Given the description of an element on the screen output the (x, y) to click on. 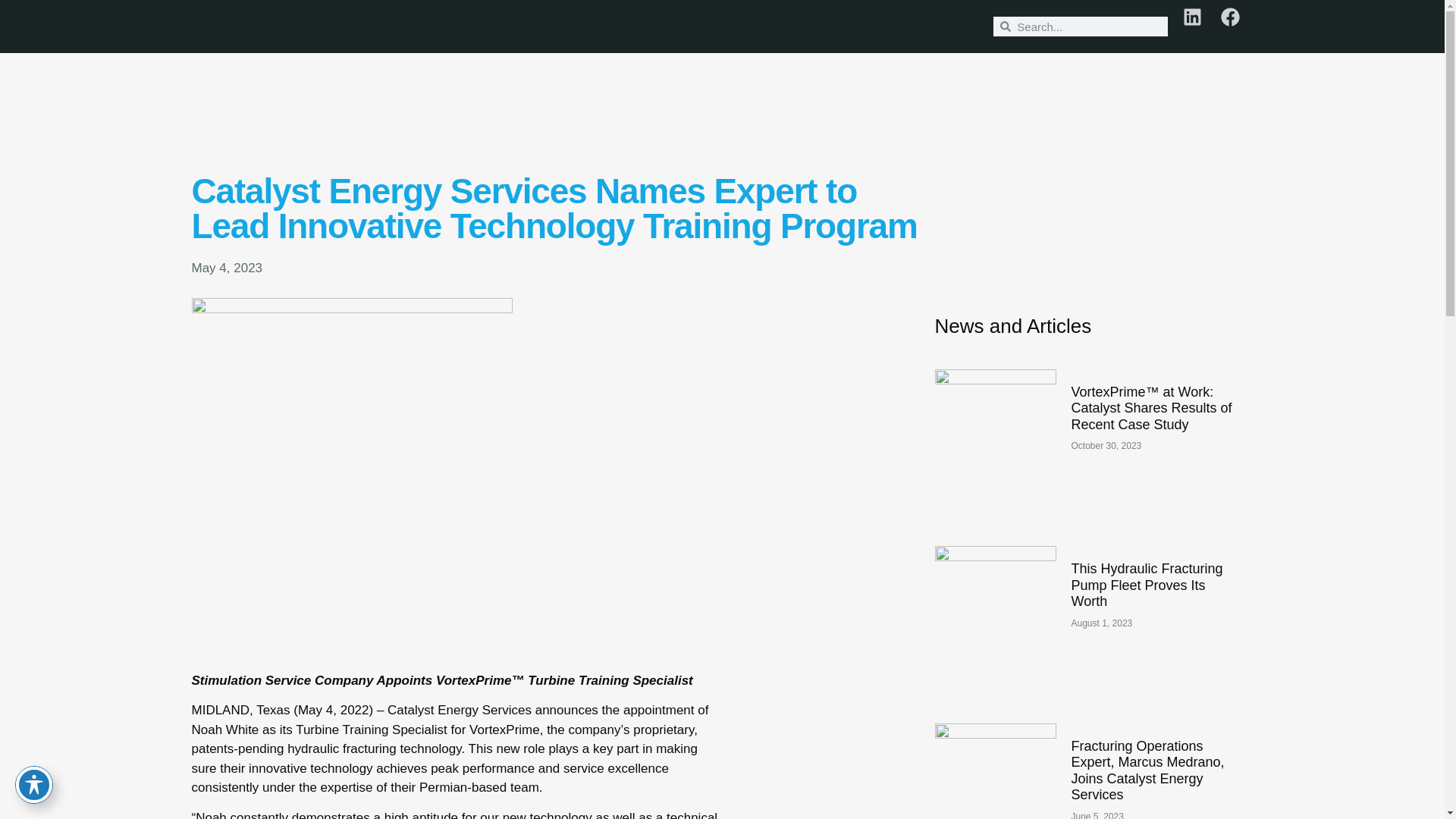
This Hydraulic Fracturing Pump Fleet Proves Its Worth (1146, 585)
May 4, 2023 (226, 268)
